Given the description of an element on the screen output the (x, y) to click on. 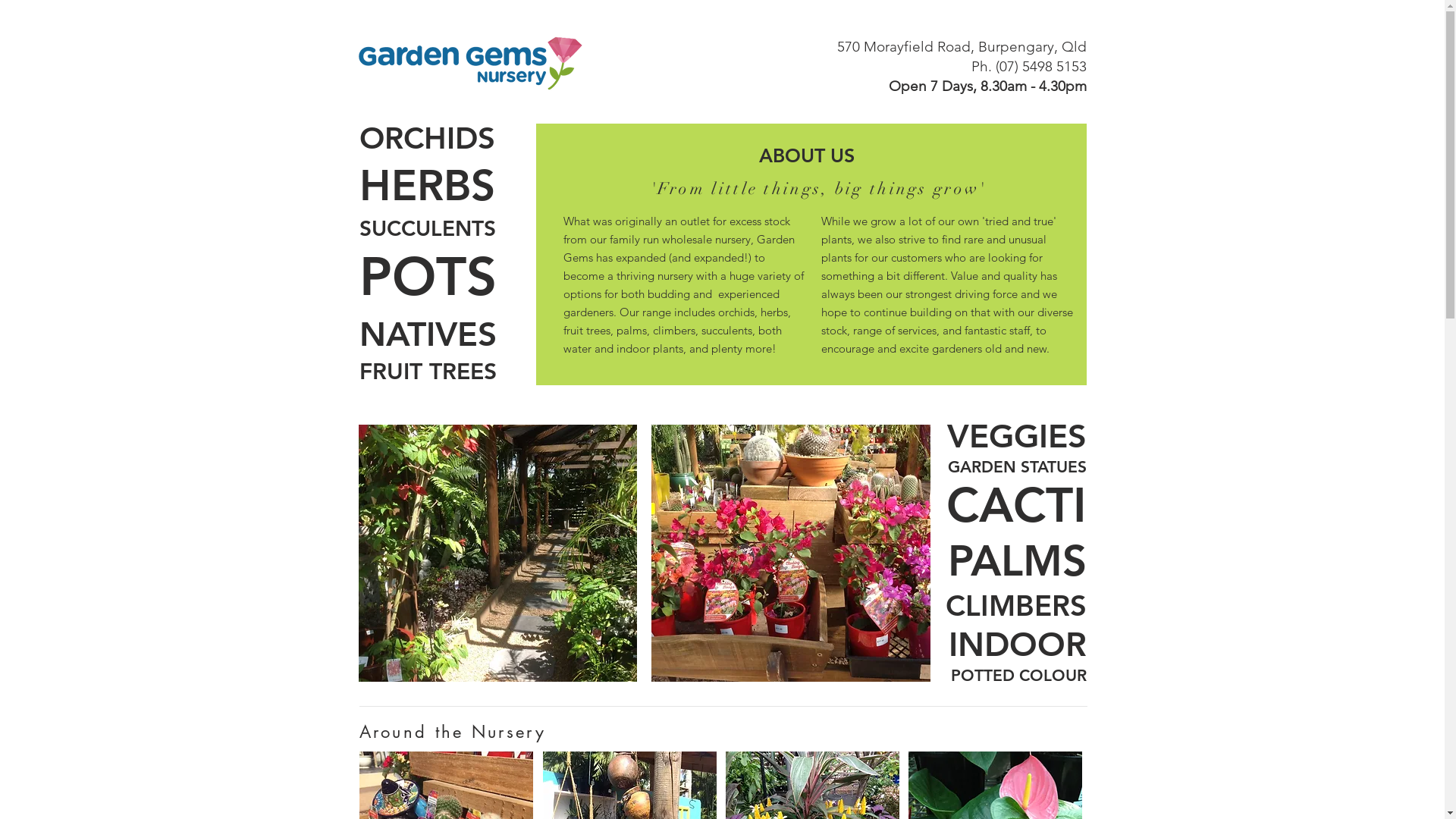
CLIMBERS Element type: text (1014, 605)
ORCHIDS Element type: text (427, 137)
VEGGIES Element type: text (1015, 435)
